Given the description of an element on the screen output the (x, y) to click on. 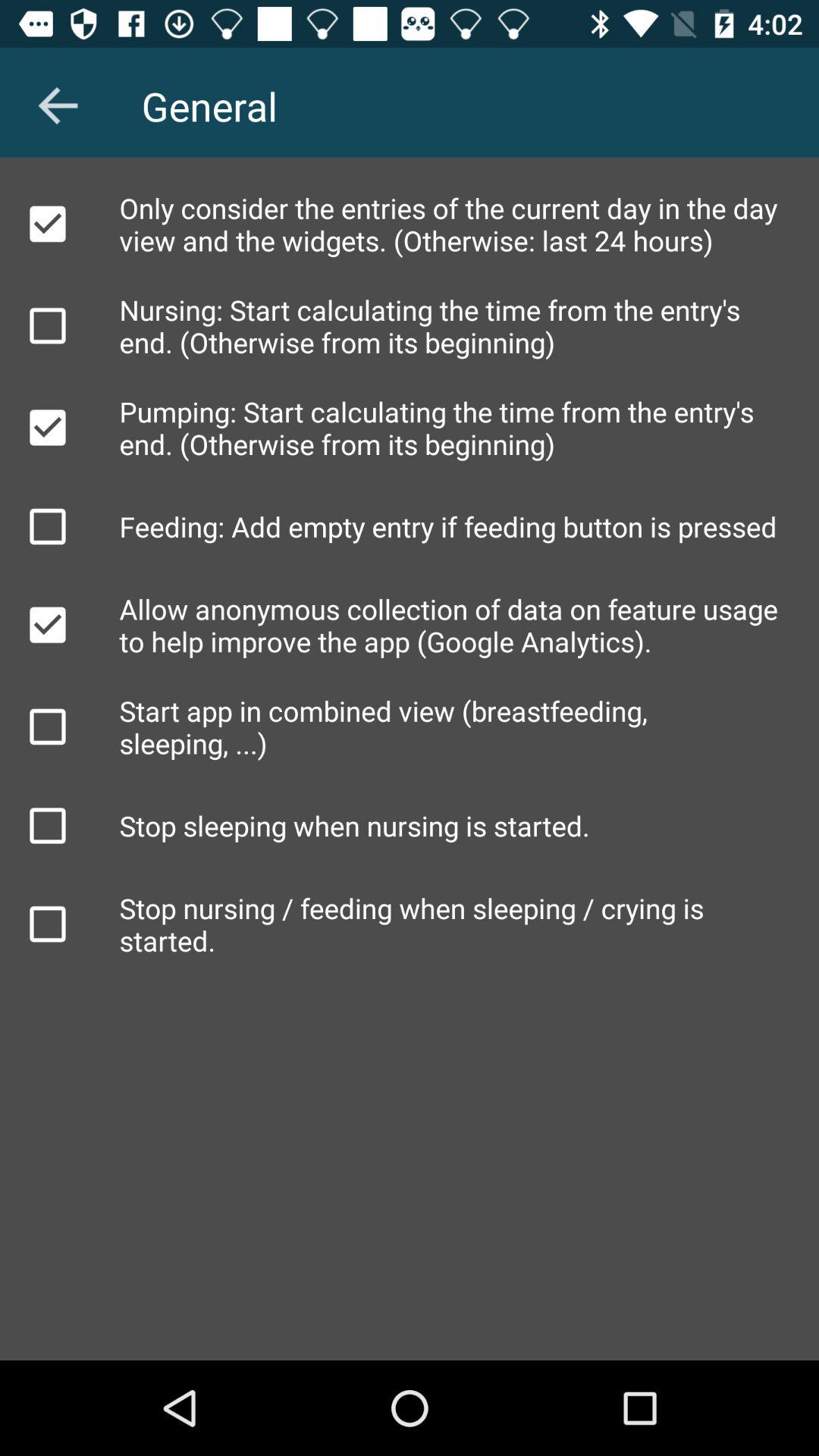
unselect anonymous collection of data (47, 624)
